Given the description of an element on the screen output the (x, y) to click on. 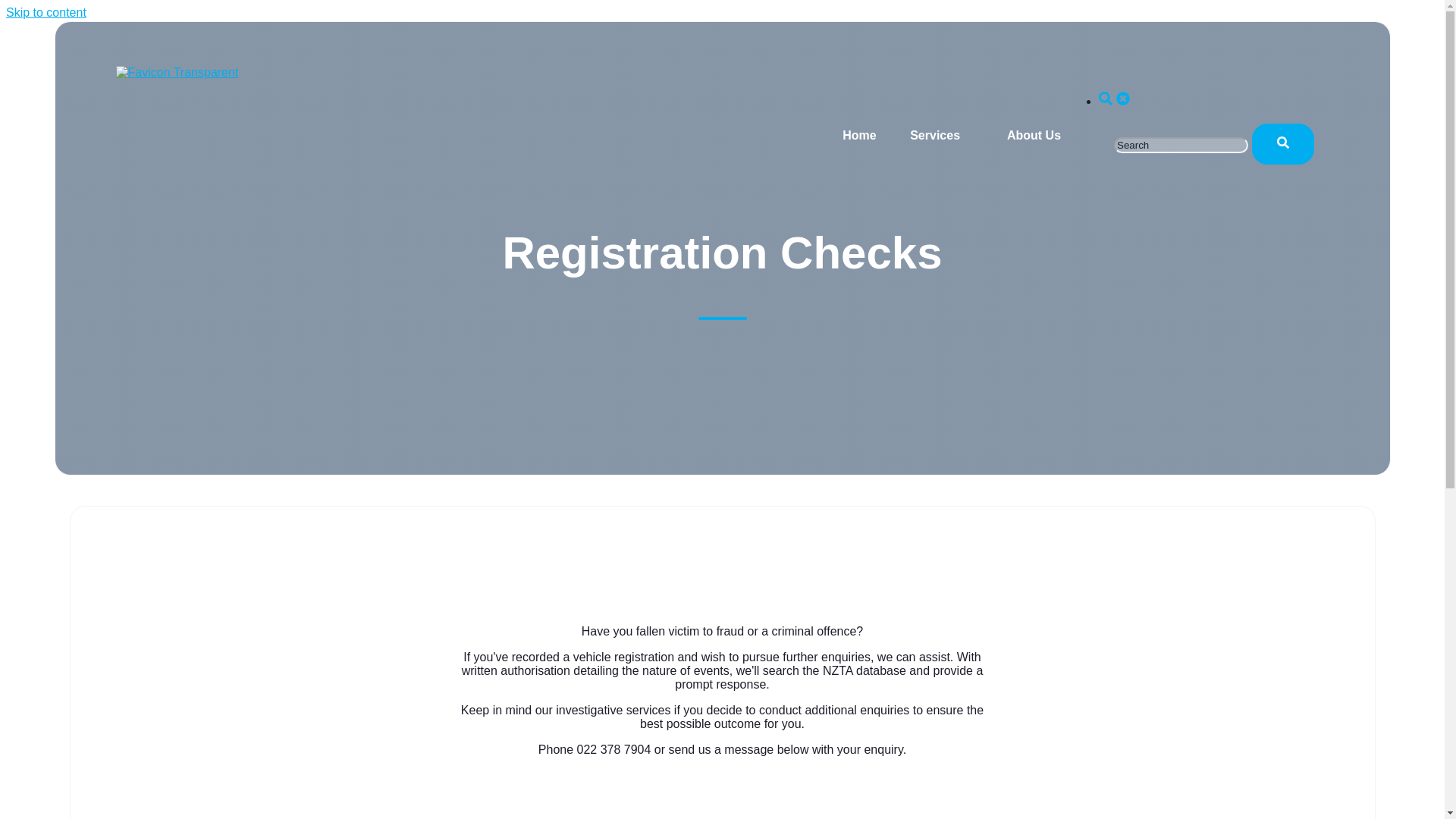
Search (1282, 142)
Skip to content (45, 11)
About Us (1034, 134)
Search (1122, 98)
Search Search (1114, 101)
Search (1105, 98)
Favicon Transparent (176, 72)
Search (1281, 143)
Home (859, 134)
Services (934, 134)
